Given the description of an element on the screen output the (x, y) to click on. 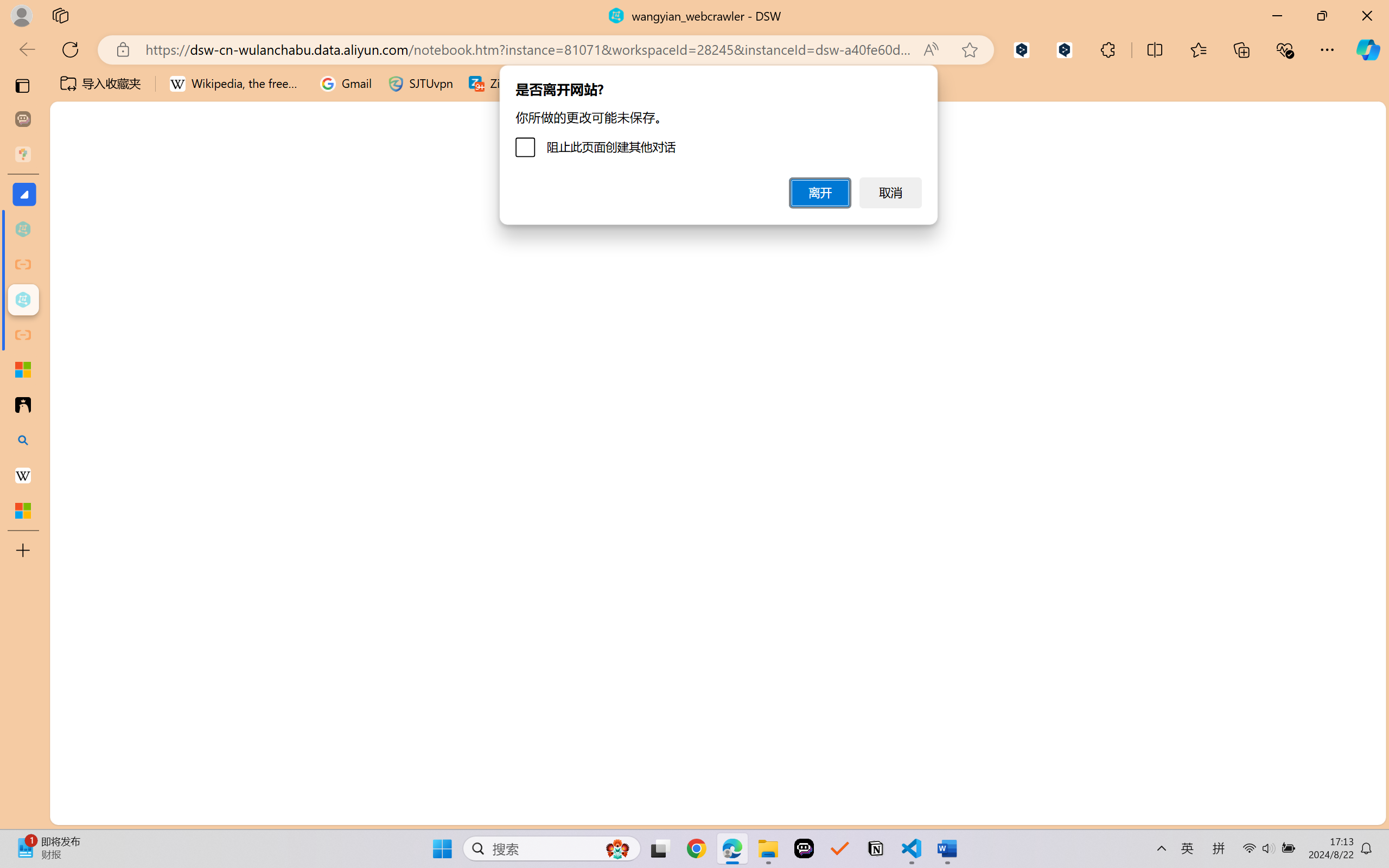
Dogri (1271, 803)
Chinese (Literary) (1271, 605)
Czech (1231, 246)
Danish (1271, 729)
Link Text (381, 74)
Bhojpuri (1271, 433)
Croatian (1271, 679)
